Given the description of an element on the screen output the (x, y) to click on. 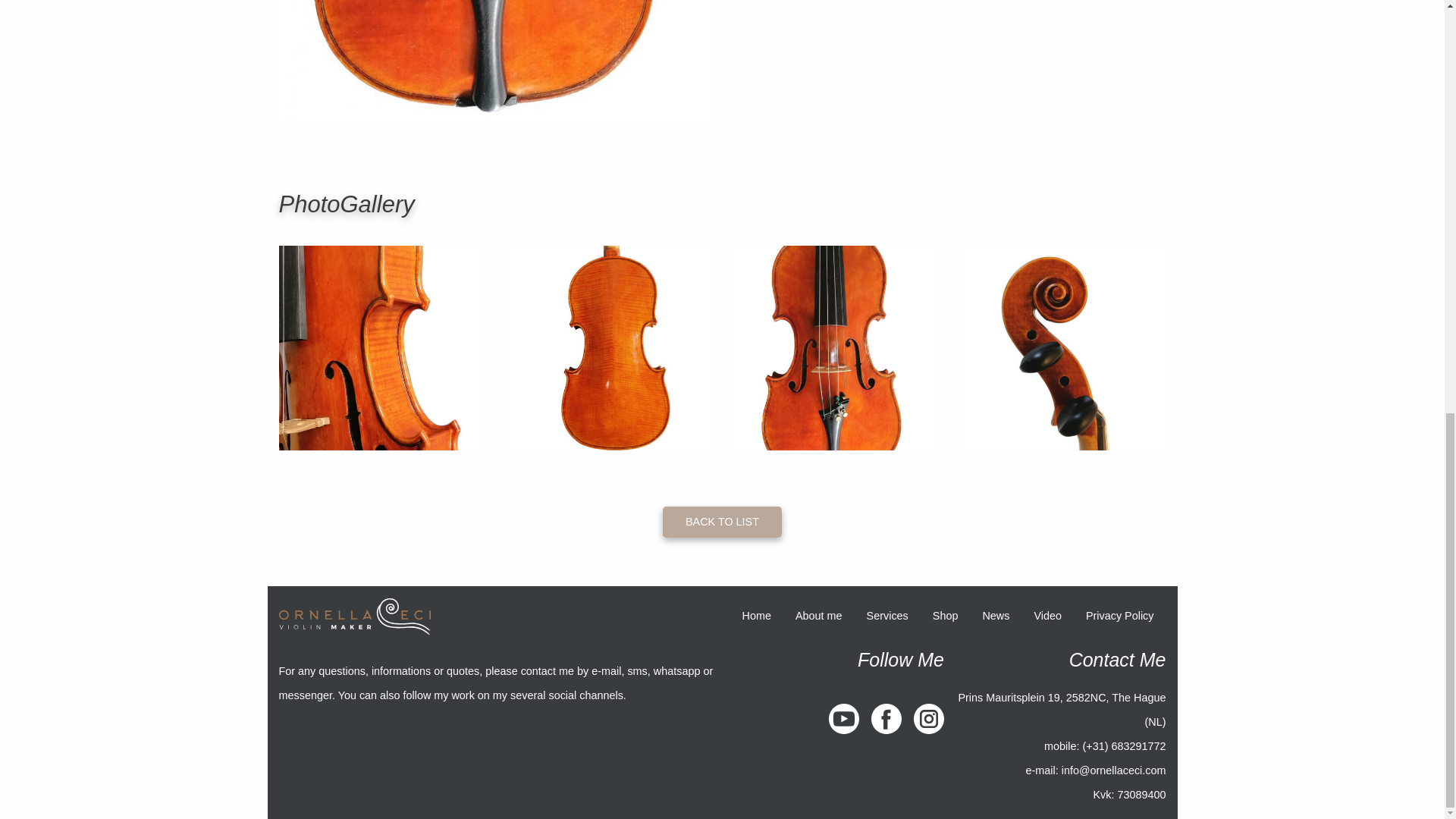
Home (756, 615)
News (995, 615)
Services (887, 615)
About me (818, 615)
Shop (945, 615)
BACK TO LIST (721, 521)
